Given the description of an element on the screen output the (x, y) to click on. 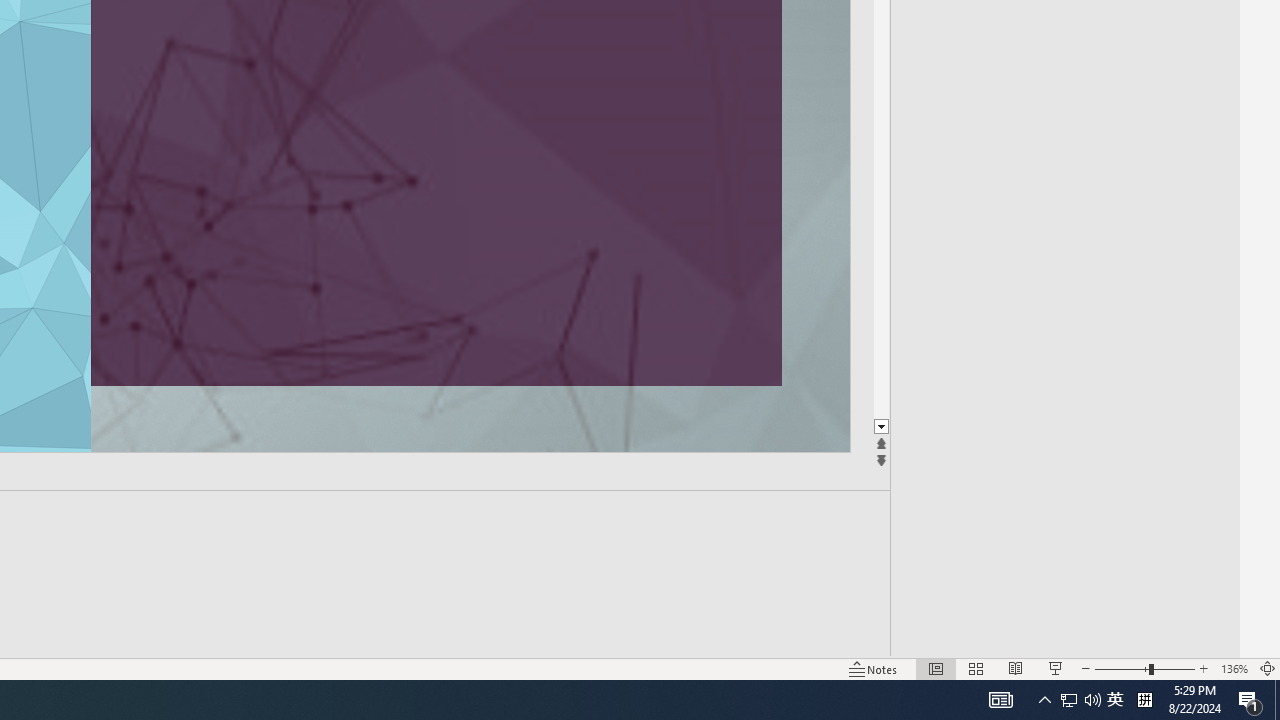
Zoom 136% (1234, 668)
